Given the description of an element on the screen output the (x, y) to click on. 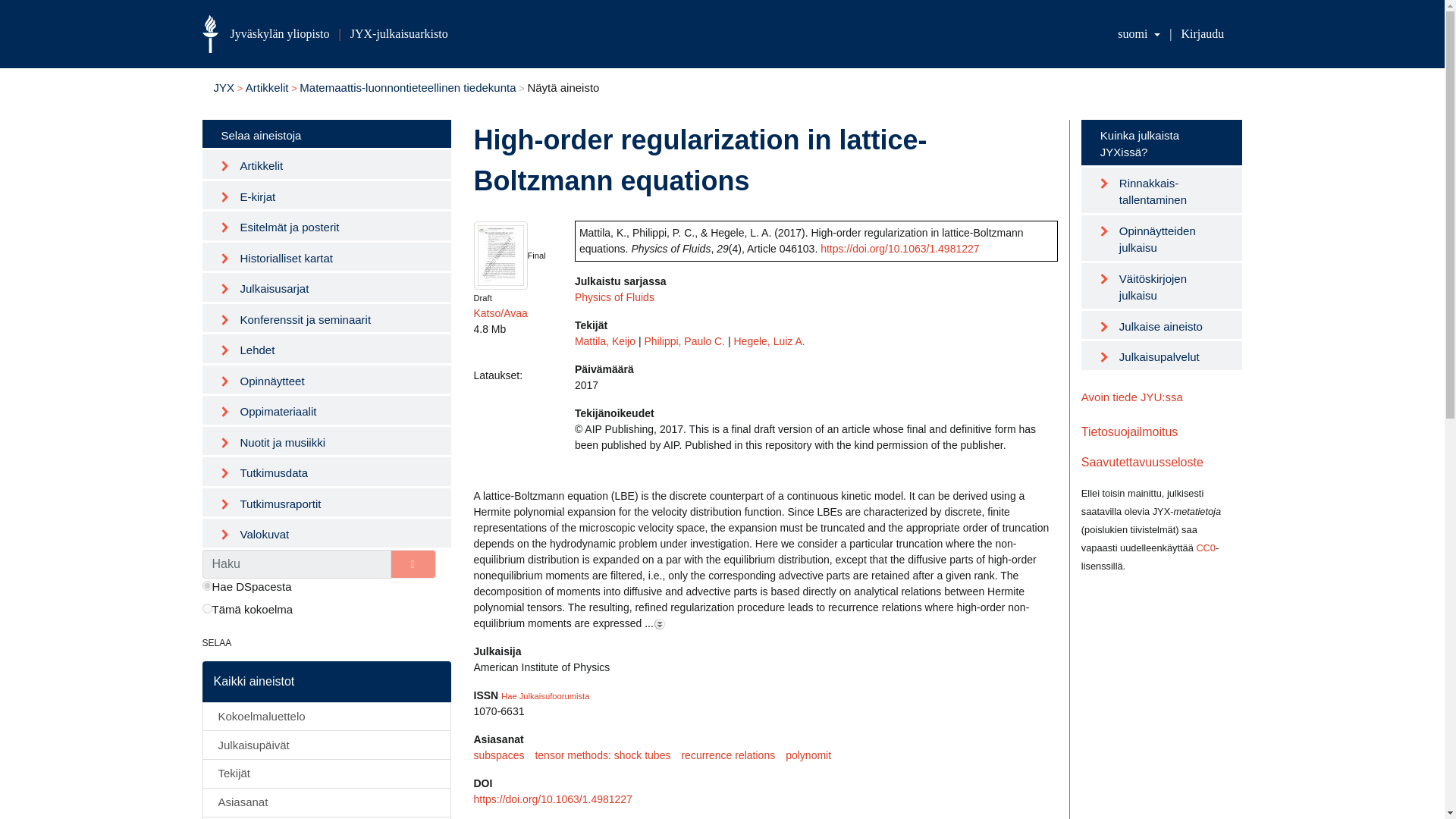
showmore (659, 623)
Physics of Fluids (614, 297)
tensor methods: shock tubes (607, 755)
Matemaattis-luonnontieteellinen tiedekunta (407, 87)
Kirjaudu (1202, 33)
polynomit (813, 755)
Hegele, Luiz A. (769, 340)
Hae Julkaisufoorumista (544, 696)
Mattila, Keijo (604, 340)
subspaces (503, 755)
